Given the description of an element on the screen output the (x, y) to click on. 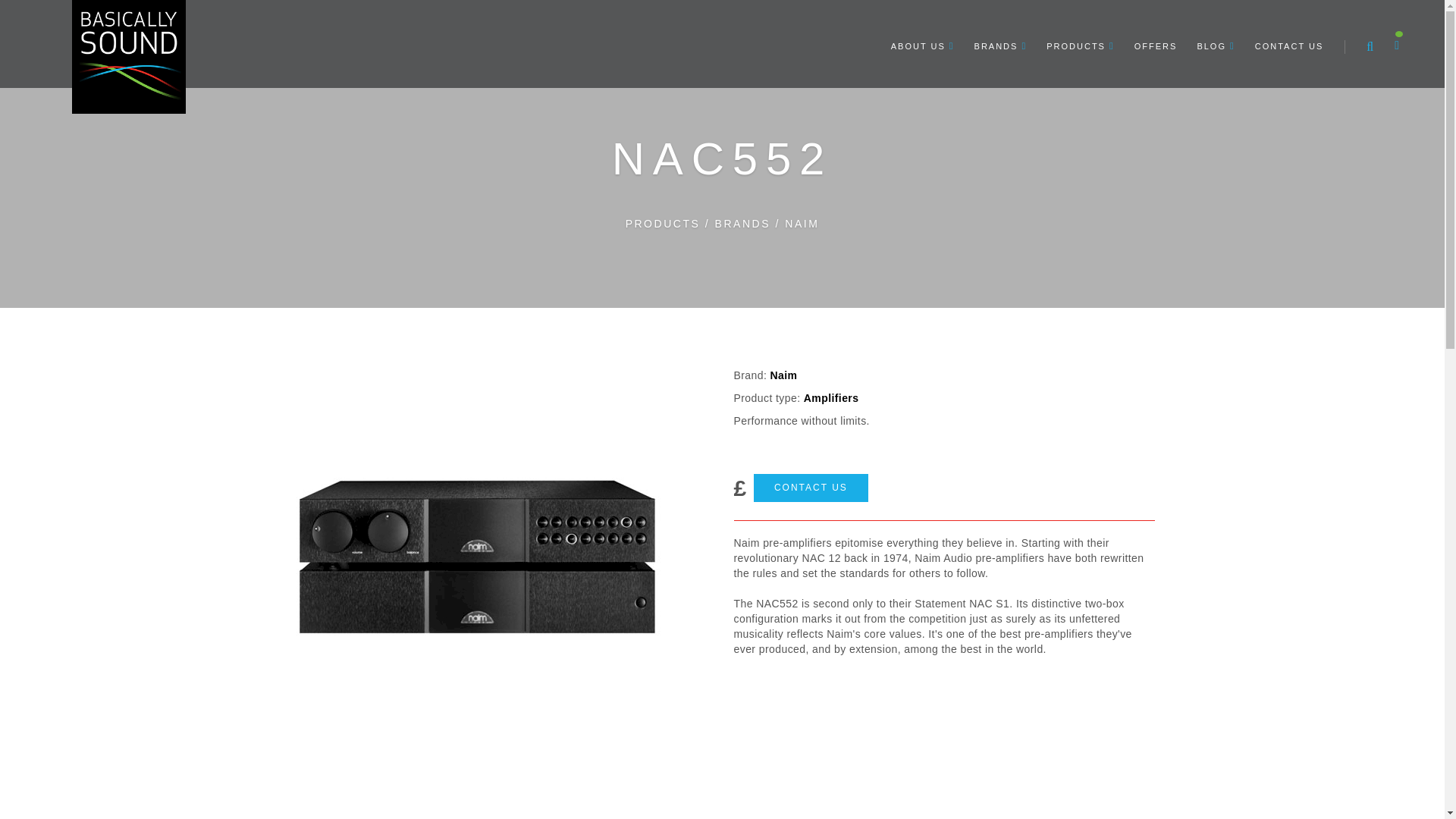
Naim (801, 223)
Blog (1215, 43)
BRANDS (999, 43)
About Us (921, 43)
Brands (742, 223)
Products (1080, 43)
ABOUT US (921, 43)
Contact Us (1288, 43)
Brands (999, 43)
PRODUCTS (1080, 43)
